Given the description of an element on the screen output the (x, y) to click on. 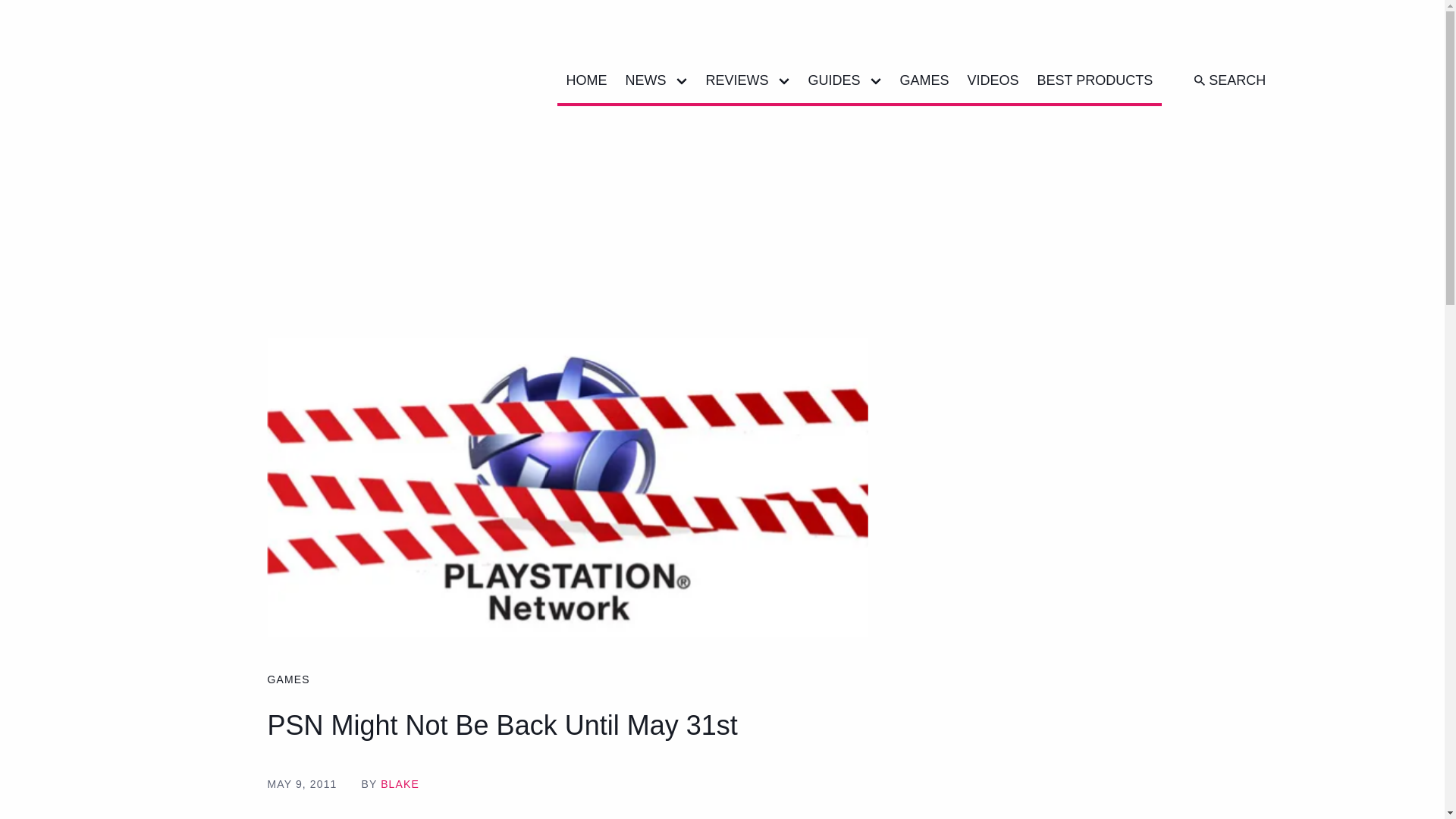
Facebook (1039, 33)
REVIEWS (731, 80)
Instagram (1070, 33)
VIDEOS (992, 80)
Twitter (1009, 33)
NEWS (640, 80)
3rd party ad content (722, 224)
BLAKE (399, 784)
Open menu (783, 80)
Youtube (1130, 33)
Discord (1161, 33)
GAMES (924, 80)
SEARCH (1227, 80)
Open menu (680, 80)
BEST PRODUCTS (1094, 80)
